Given the description of an element on the screen output the (x, y) to click on. 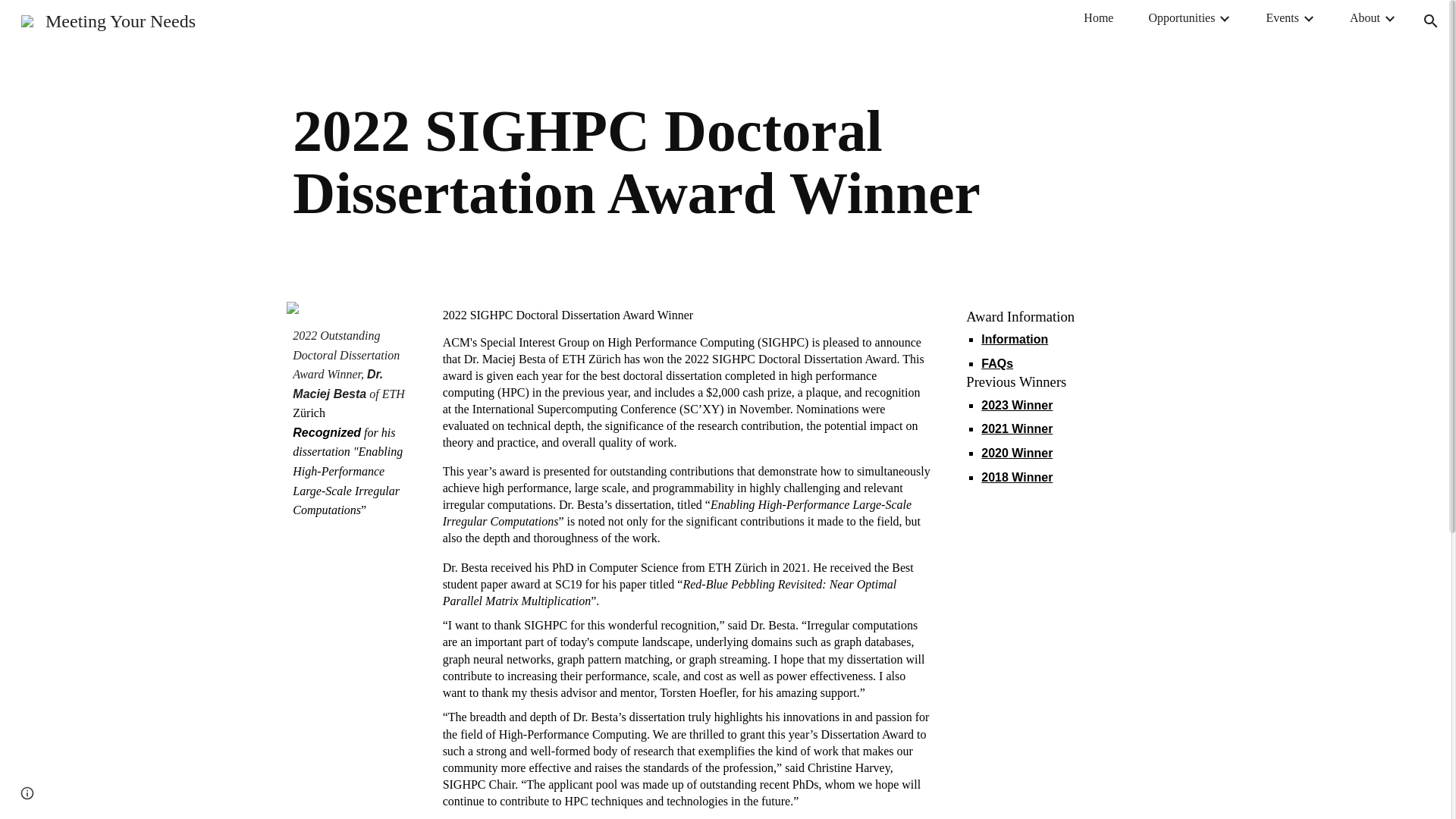
Meeting Your Needs (108, 19)
Home (1098, 17)
Events (1281, 17)
Opportunities (1181, 17)
